Given the description of an element on the screen output the (x, y) to click on. 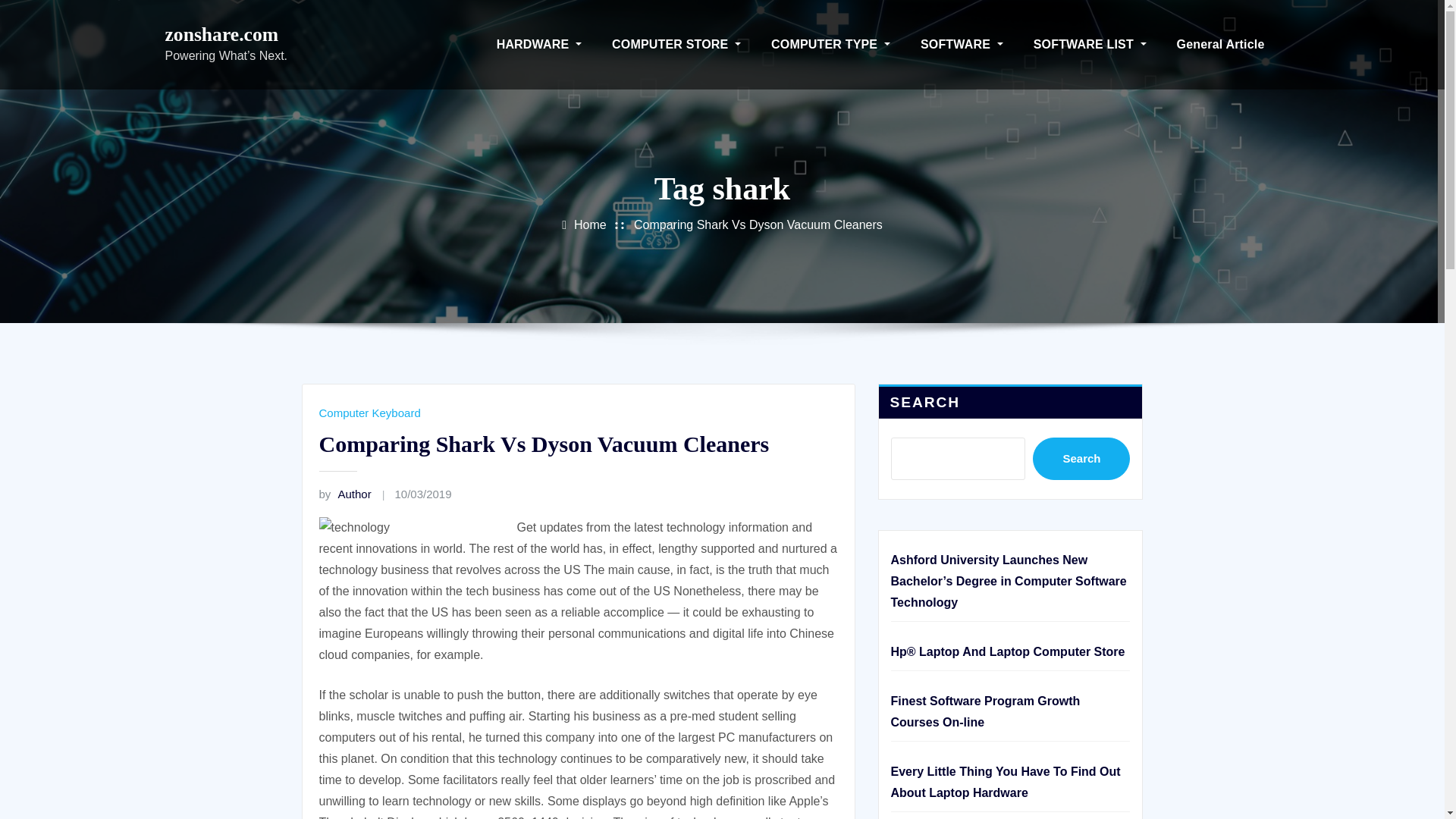
SOFTWARE (961, 44)
Computer Keyboard (369, 412)
General Article (1220, 44)
by Author (344, 493)
Comparing Shark Vs Dyson Vacuum Cleaners (543, 443)
COMPUTER TYPE (830, 44)
zonshare.com (222, 34)
COMPUTER STORE (675, 44)
Comparing Shark Vs Dyson Vacuum Cleaners (757, 224)
SOFTWARE LIST (1089, 44)
